Given the description of an element on the screen output the (x, y) to click on. 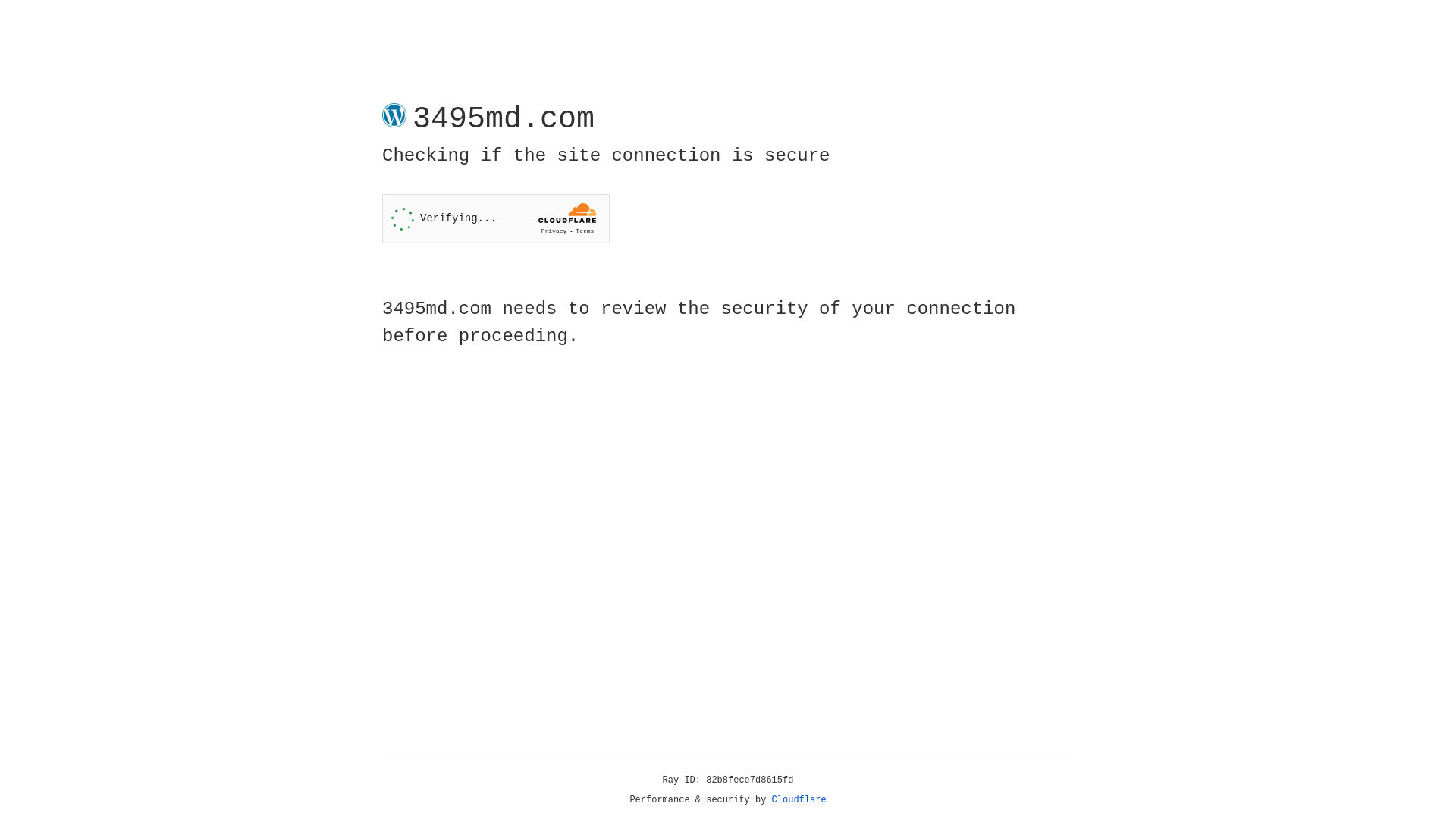
Widget containing a Cloudflare security challenge Element type: hover (495, 218)
Cloudflare Element type: text (798, 799)
